Given the description of an element on the screen output the (x, y) to click on. 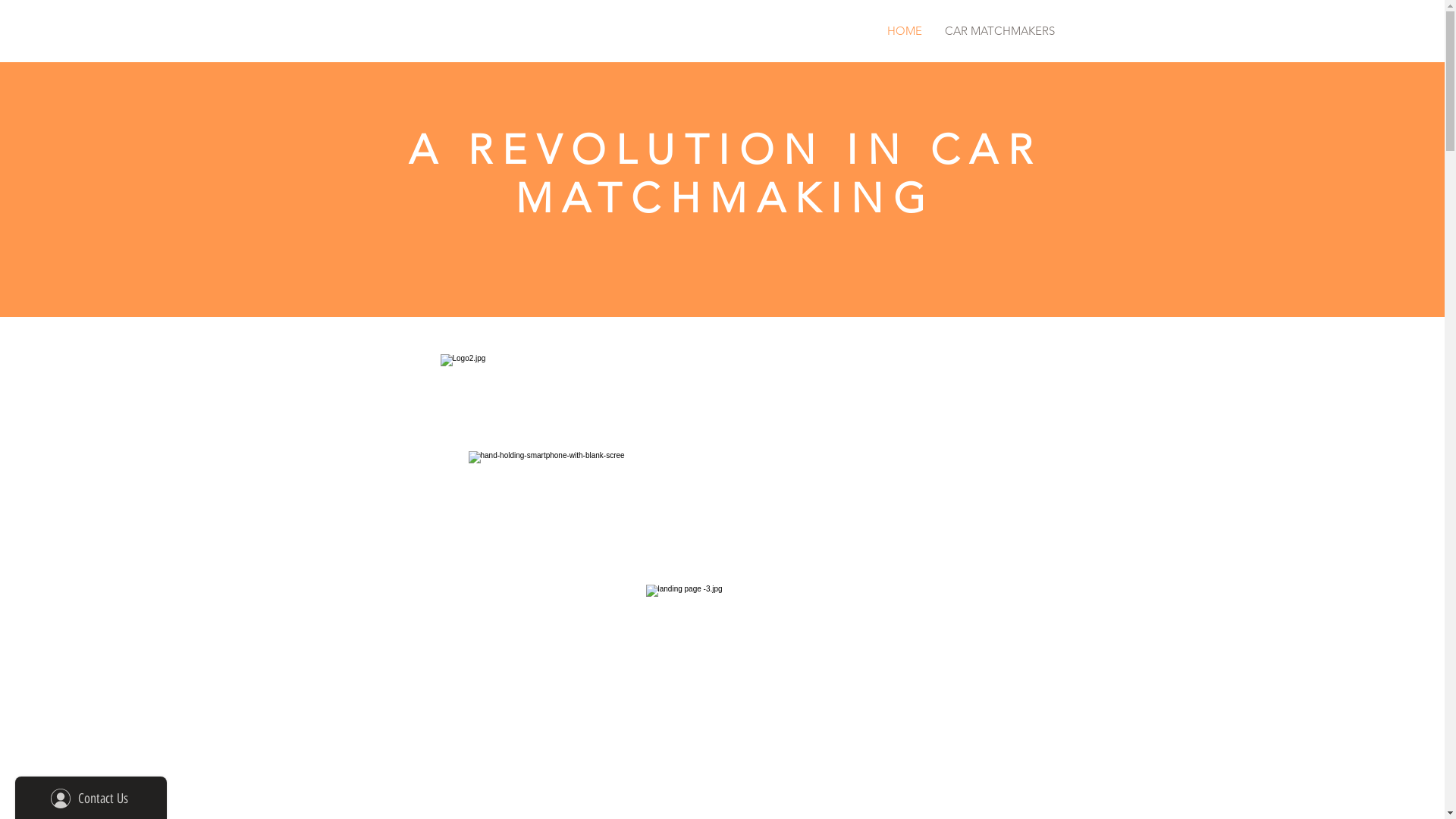
CAR MATCHMAKERS Element type: text (999, 30)
HOME Element type: text (866, 30)
